Given the description of an element on the screen output the (x, y) to click on. 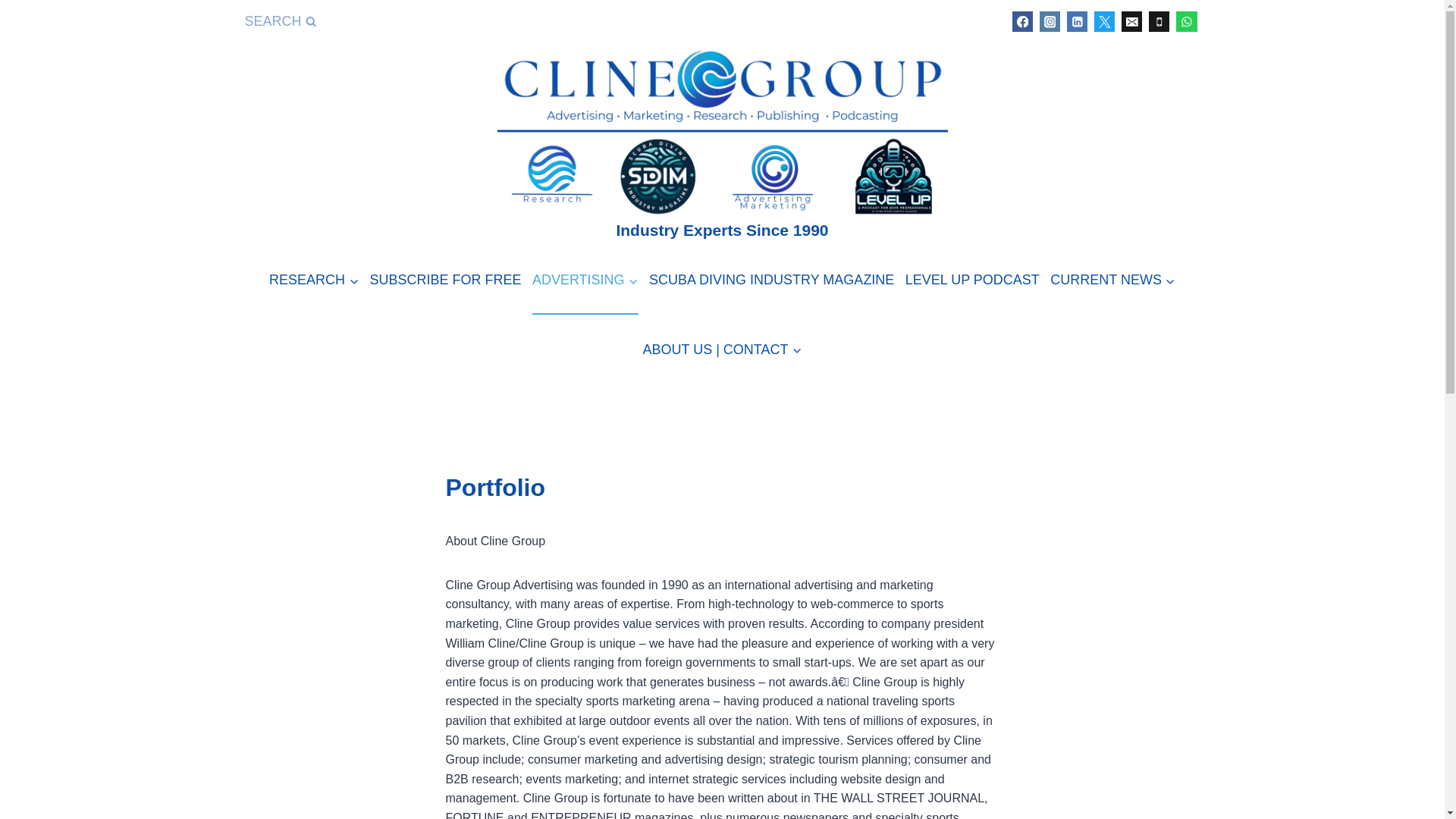
SUBSCRIBE FOR FREE (444, 279)
RESEARCH (313, 279)
Industry Experts Since 1990 (722, 138)
SEARCH (279, 21)
LEVEL UP PODCAST (972, 279)
CURRENT NEWS (1112, 279)
SCUBA DIVING INDUSTRY MAGAZINE (771, 279)
ADVERTISING (585, 279)
